Given the description of an element on the screen output the (x, y) to click on. 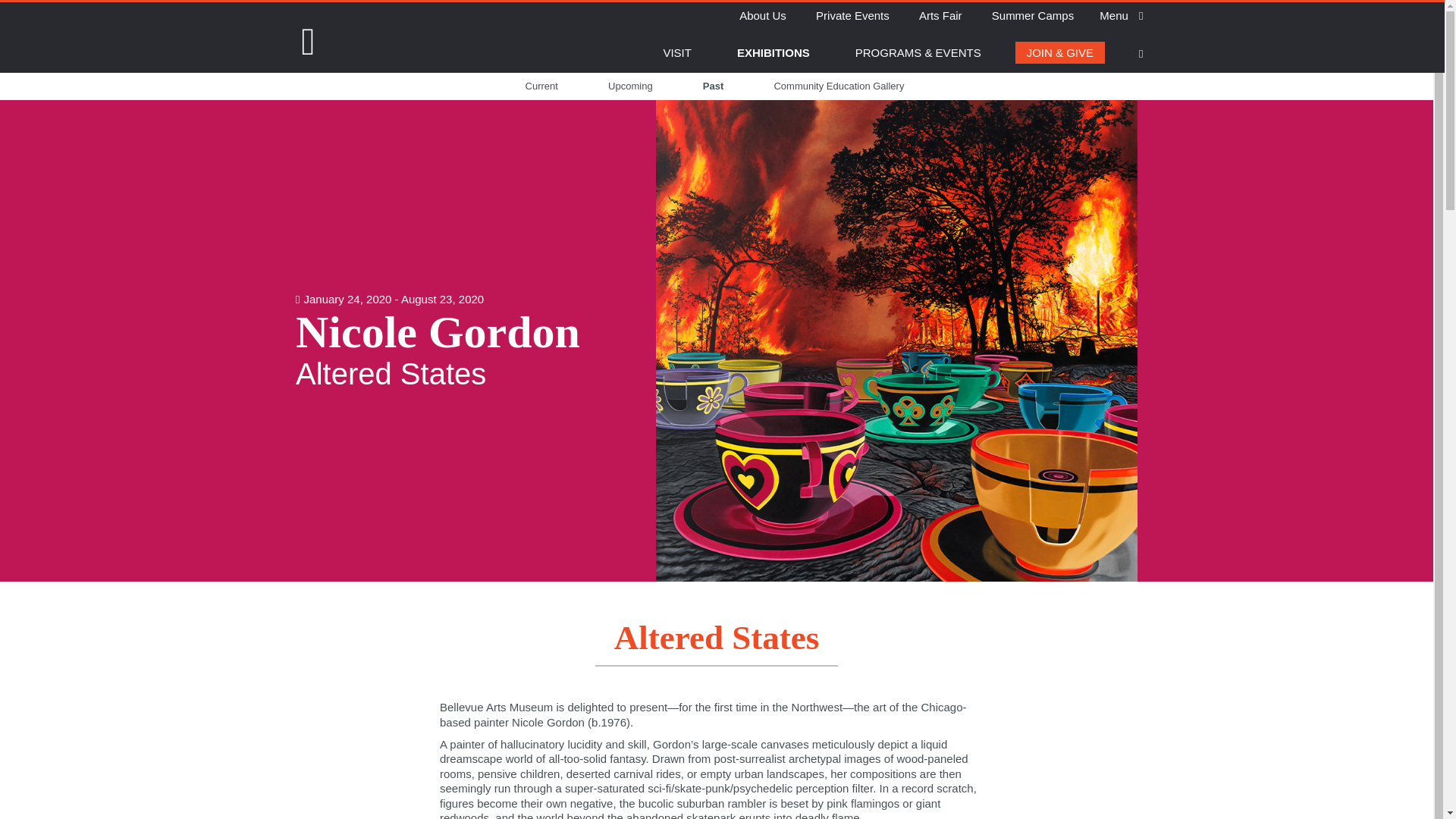
About Us (762, 15)
